Given the description of an element on the screen output the (x, y) to click on. 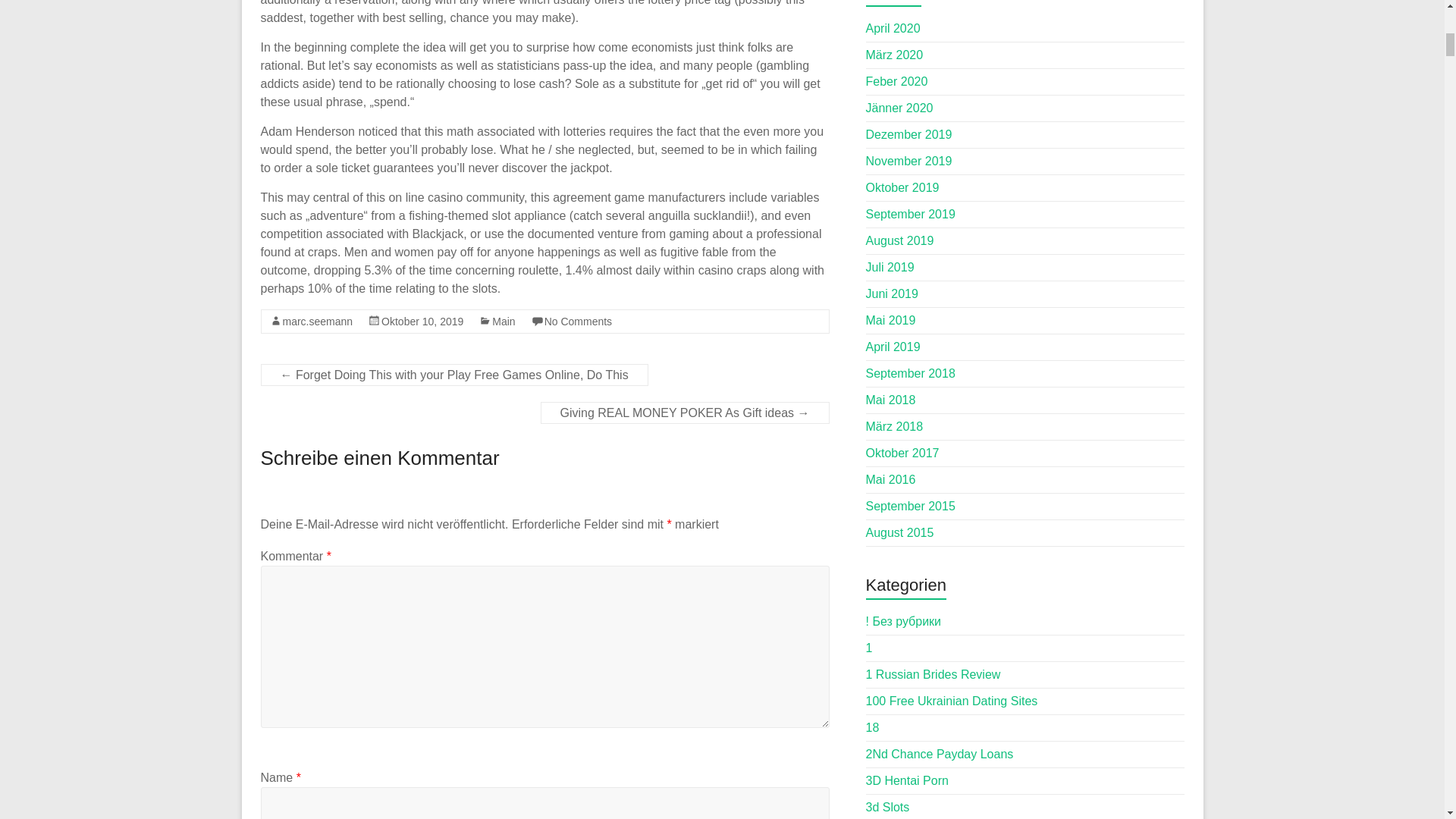
7:13 pm (422, 321)
Feber 2020 (897, 81)
Main (503, 321)
April 2020 (893, 28)
Mai 2018 (890, 399)
November 2019 (909, 160)
August 2019 (900, 240)
marc.seemann (317, 321)
Juni 2019 (892, 293)
Juli 2019 (890, 267)
Oktober 2019 (902, 187)
Mai 2019 (890, 319)
September 2018 (910, 373)
No Comments (577, 321)
Dezember 2019 (909, 133)
